Given the description of an element on the screen output the (x, y) to click on. 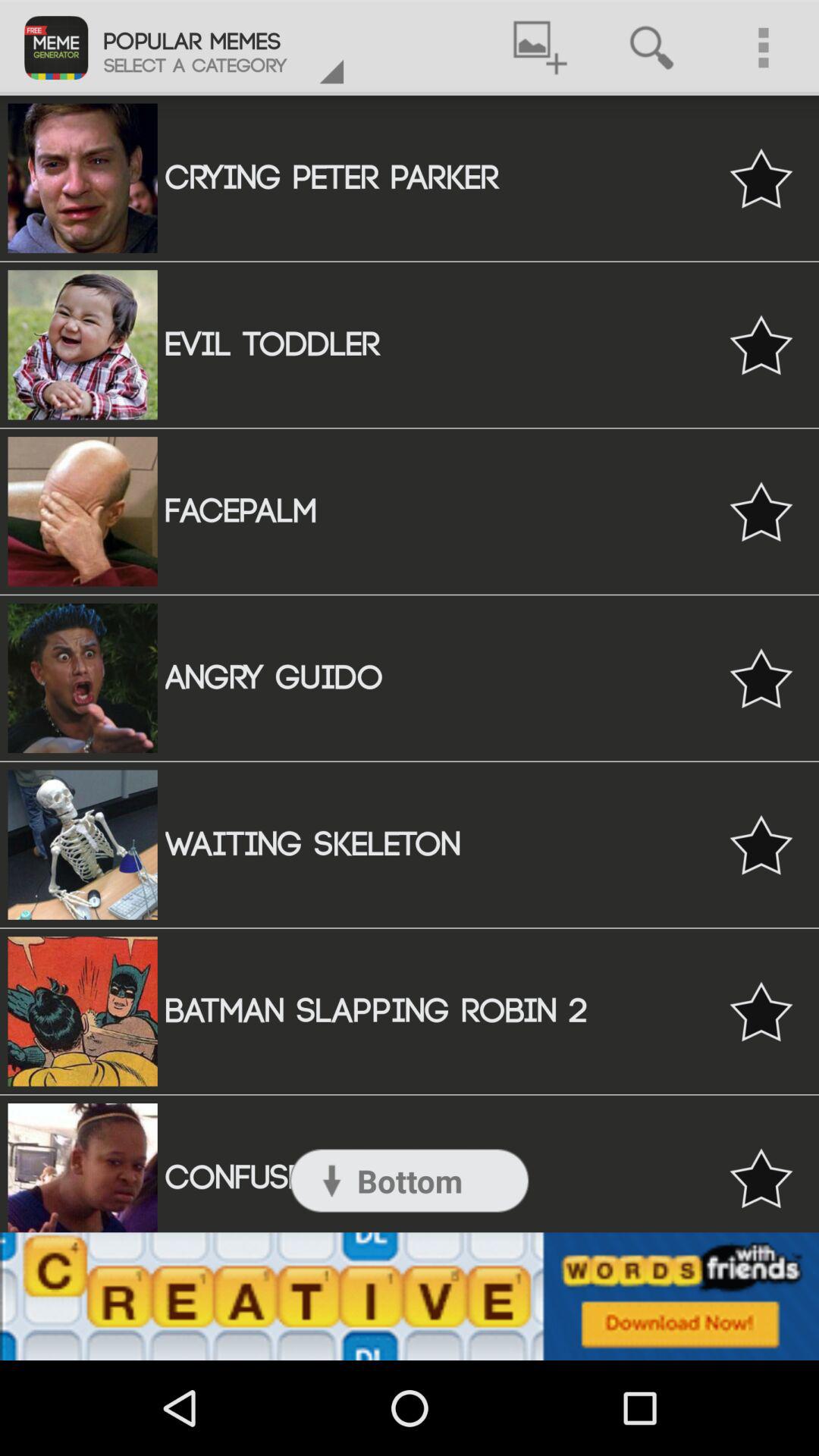
favorite a specific meme (761, 1011)
